Given the description of an element on the screen output the (x, y) to click on. 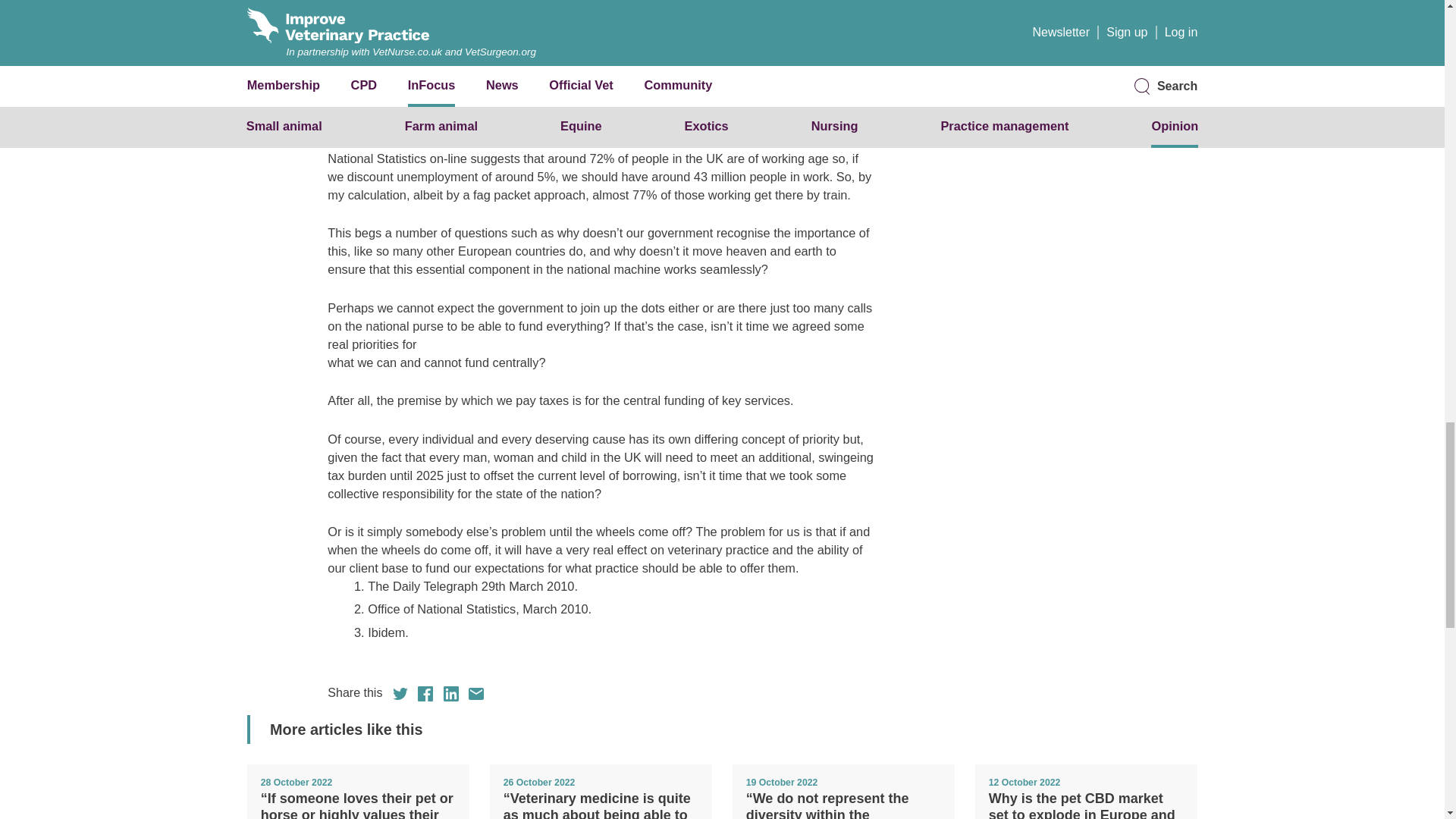
Share on LinkedIn (451, 693)
Share on Twitter (400, 693)
Share on Facebook (424, 693)
Share via Email (475, 693)
